Given the description of an element on the screen output the (x, y) to click on. 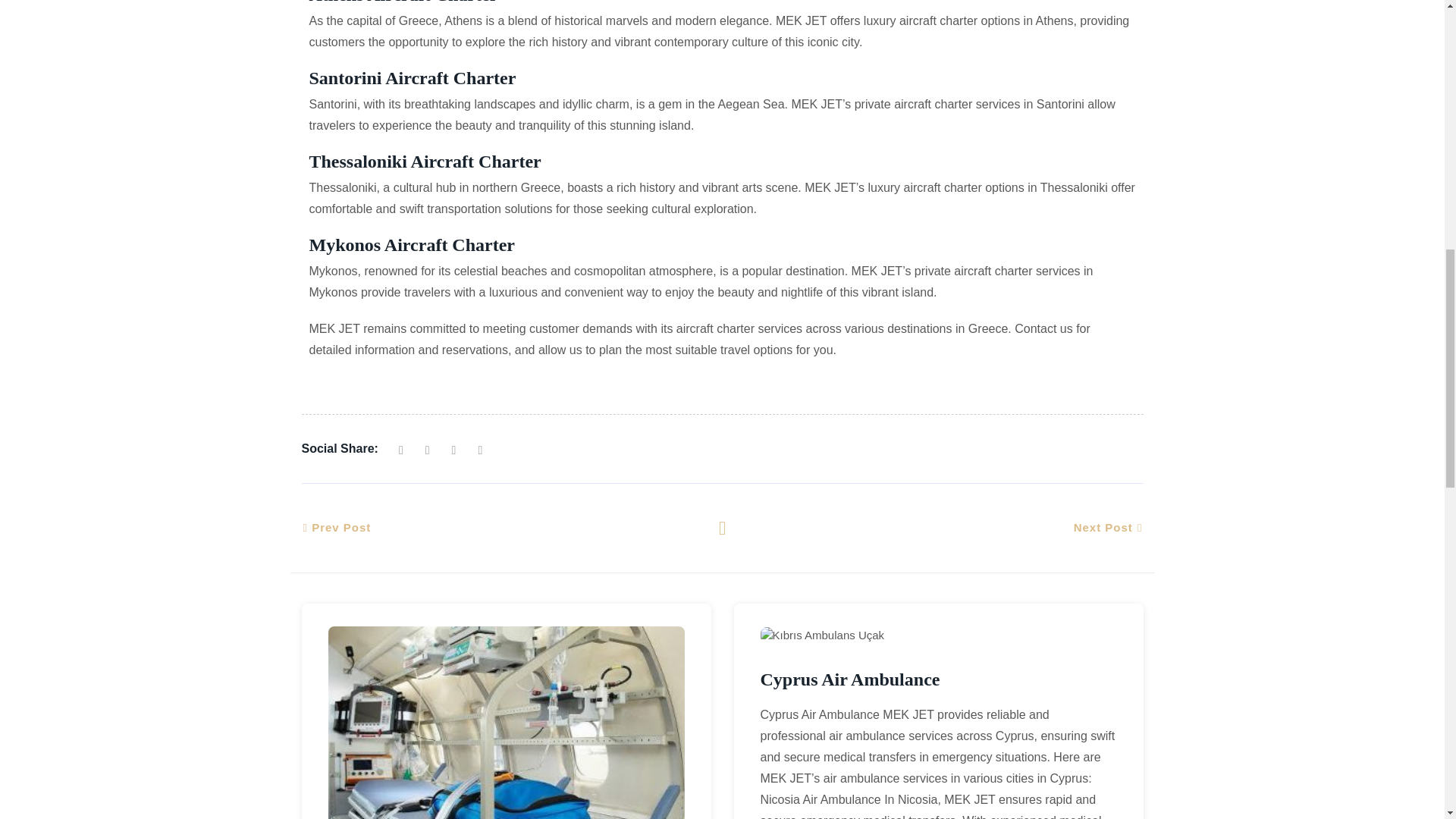
Next Post (1108, 528)
Prev Post (336, 528)
